Given the description of an element on the screen output the (x, y) to click on. 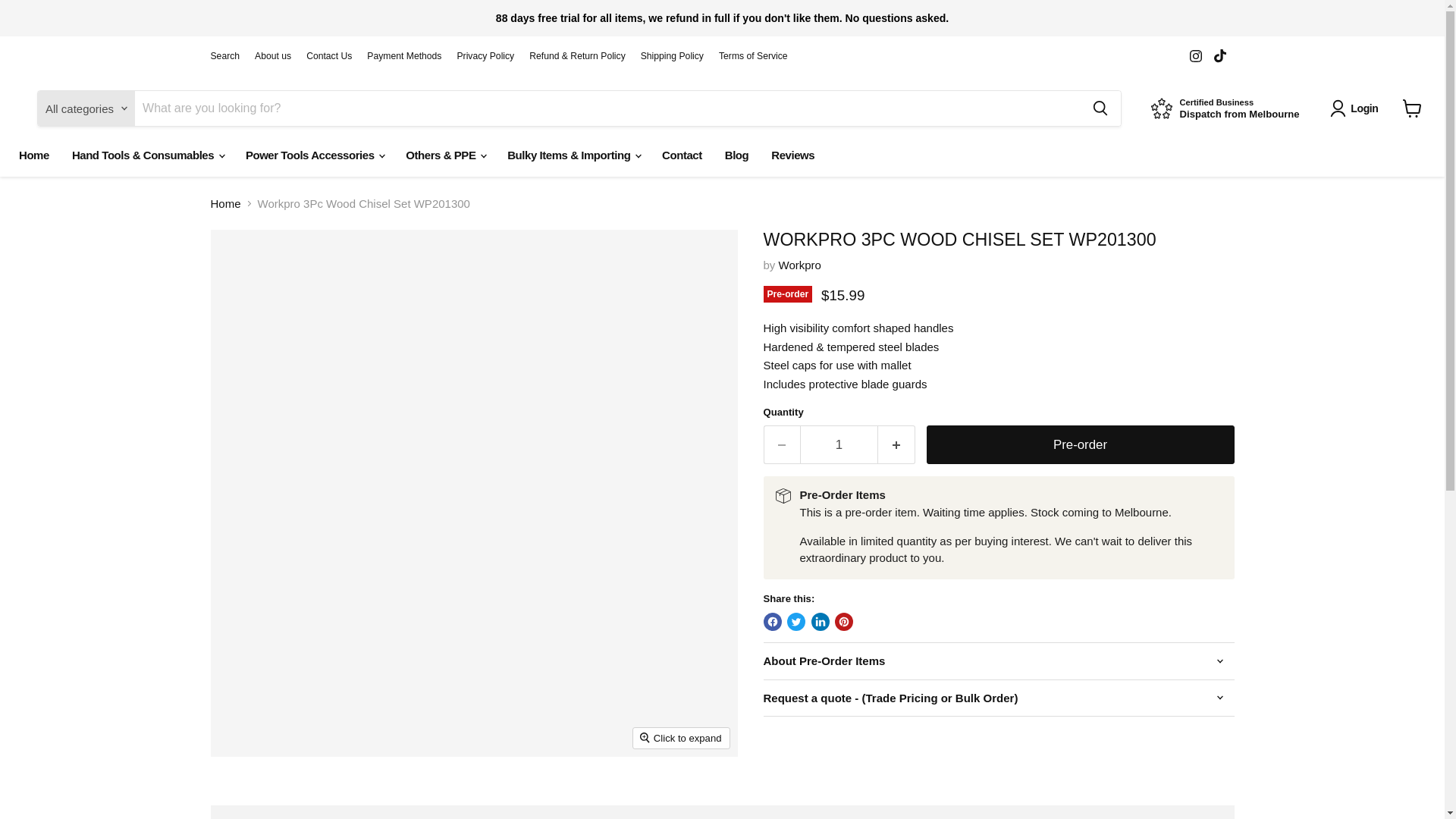
TikTok (1219, 55)
Login (1357, 108)
Shipping Policy (671, 55)
Workpro (799, 264)
About us (272, 55)
Payment Methods (403, 55)
Find us on TikTok (1219, 55)
View cart (1411, 108)
Search (225, 55)
Instagram (1196, 55)
Find us on Instagram (1196, 55)
Contact Us (328, 55)
Terms of Service (753, 55)
Home (1225, 109)
